Given the description of an element on the screen output the (x, y) to click on. 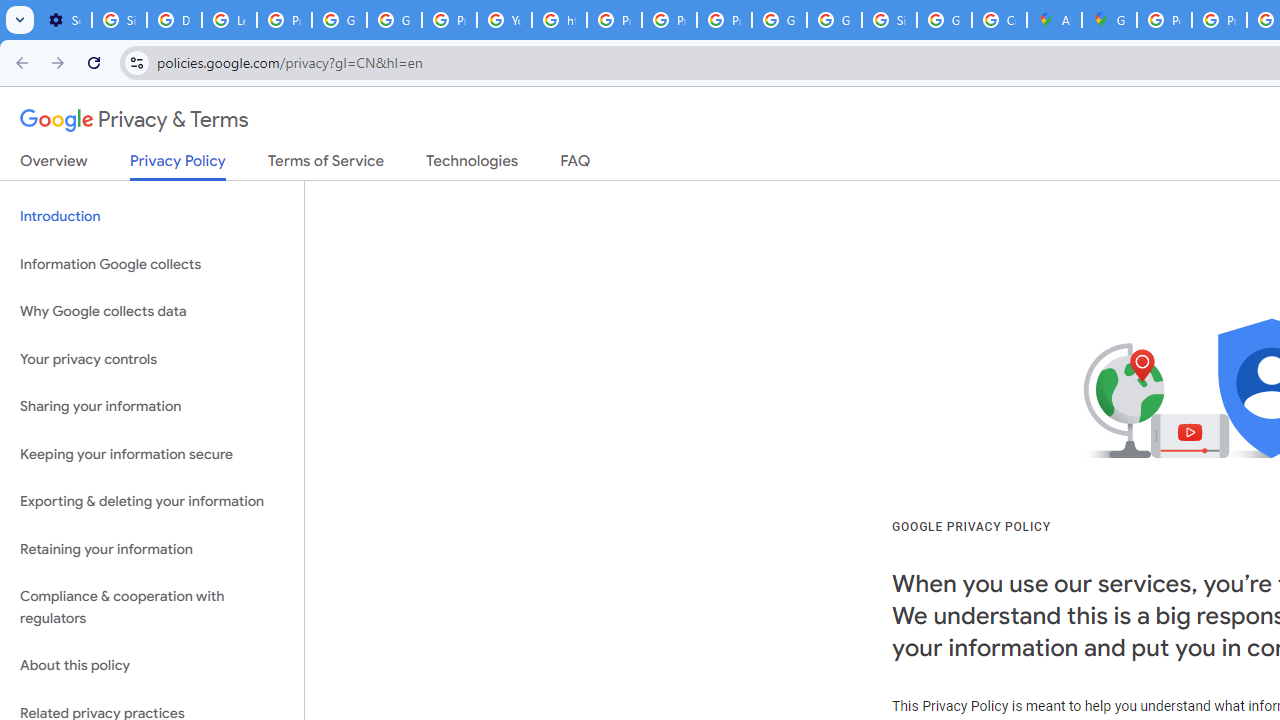
Settings - On startup (64, 20)
Google Account Help (339, 20)
YouTube (504, 20)
Sign in - Google Accounts (888, 20)
